Given the description of an element on the screen output the (x, y) to click on. 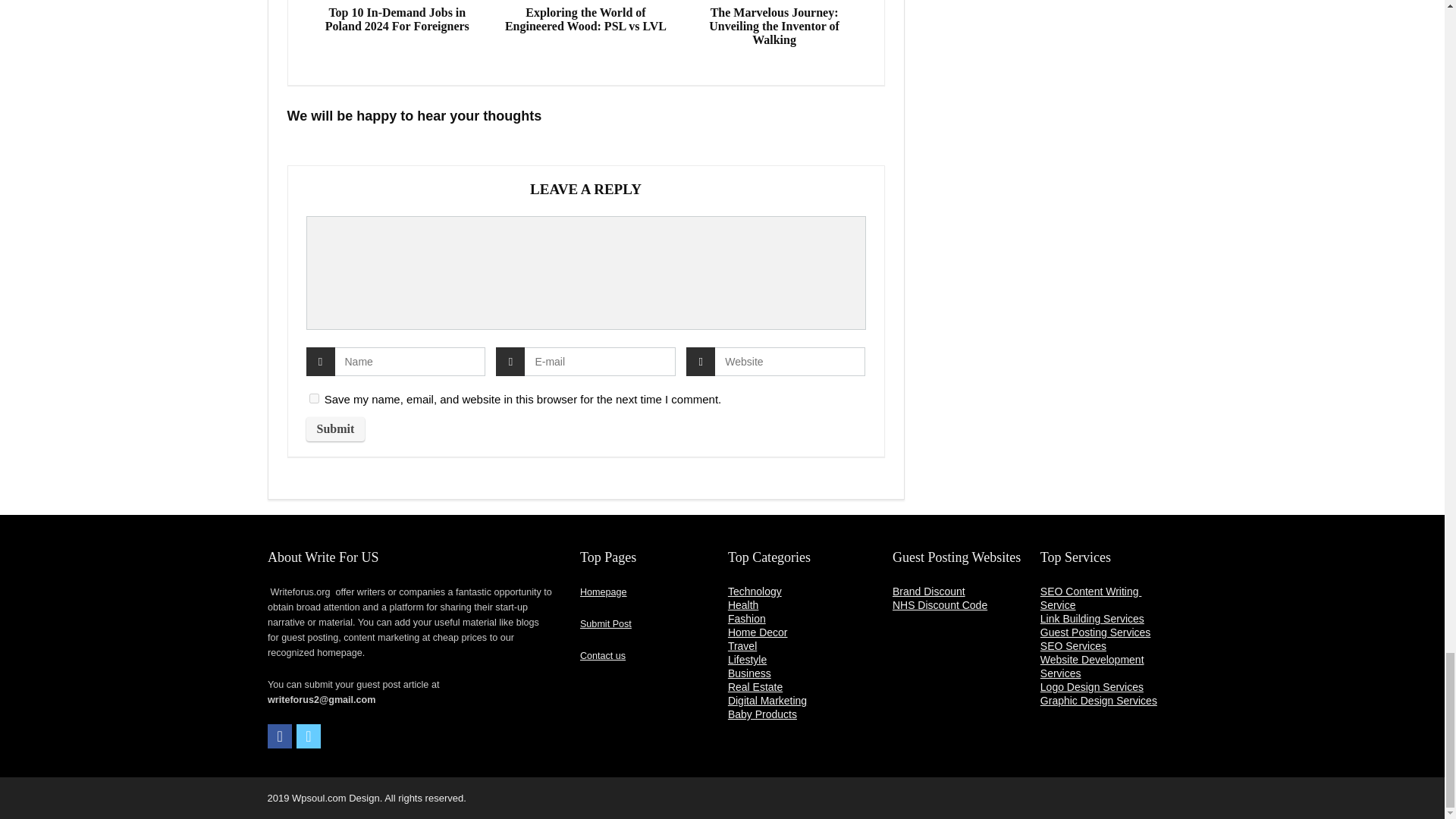
Submit (335, 428)
yes (313, 398)
Exploring the World of Engineered Wood: PSL vs LVL (584, 19)
Top 10 In-Demand Jobs in Poland 2024  For Foreigners (397, 19)
The Marvelous Journey: Unveiling the Inventor of Walking (774, 25)
